Given the description of an element on the screen output the (x, y) to click on. 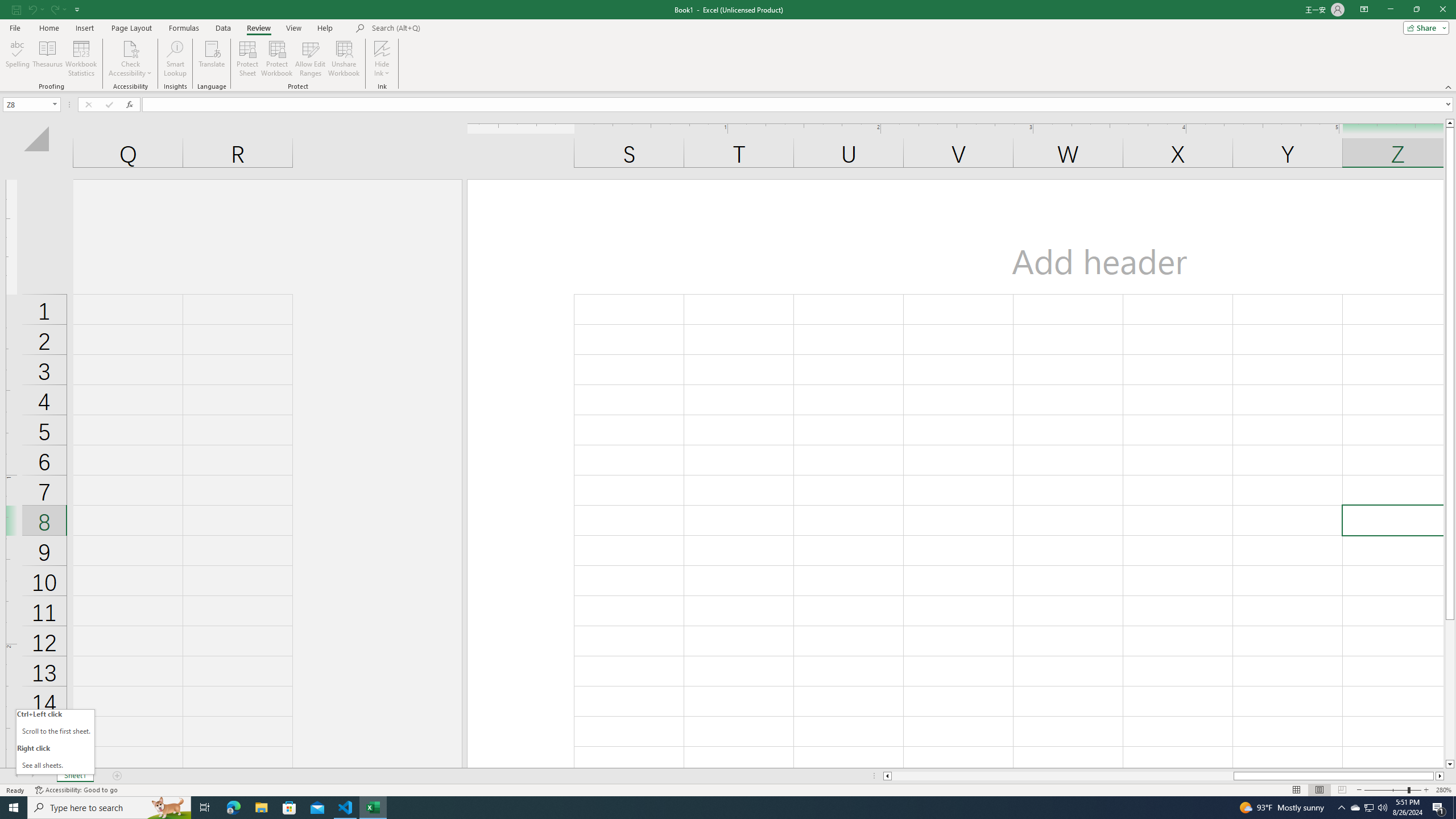
Thesaurus... (47, 58)
Unshare Workbook (344, 58)
Translate (211, 58)
